Given the description of an element on the screen output the (x, y) to click on. 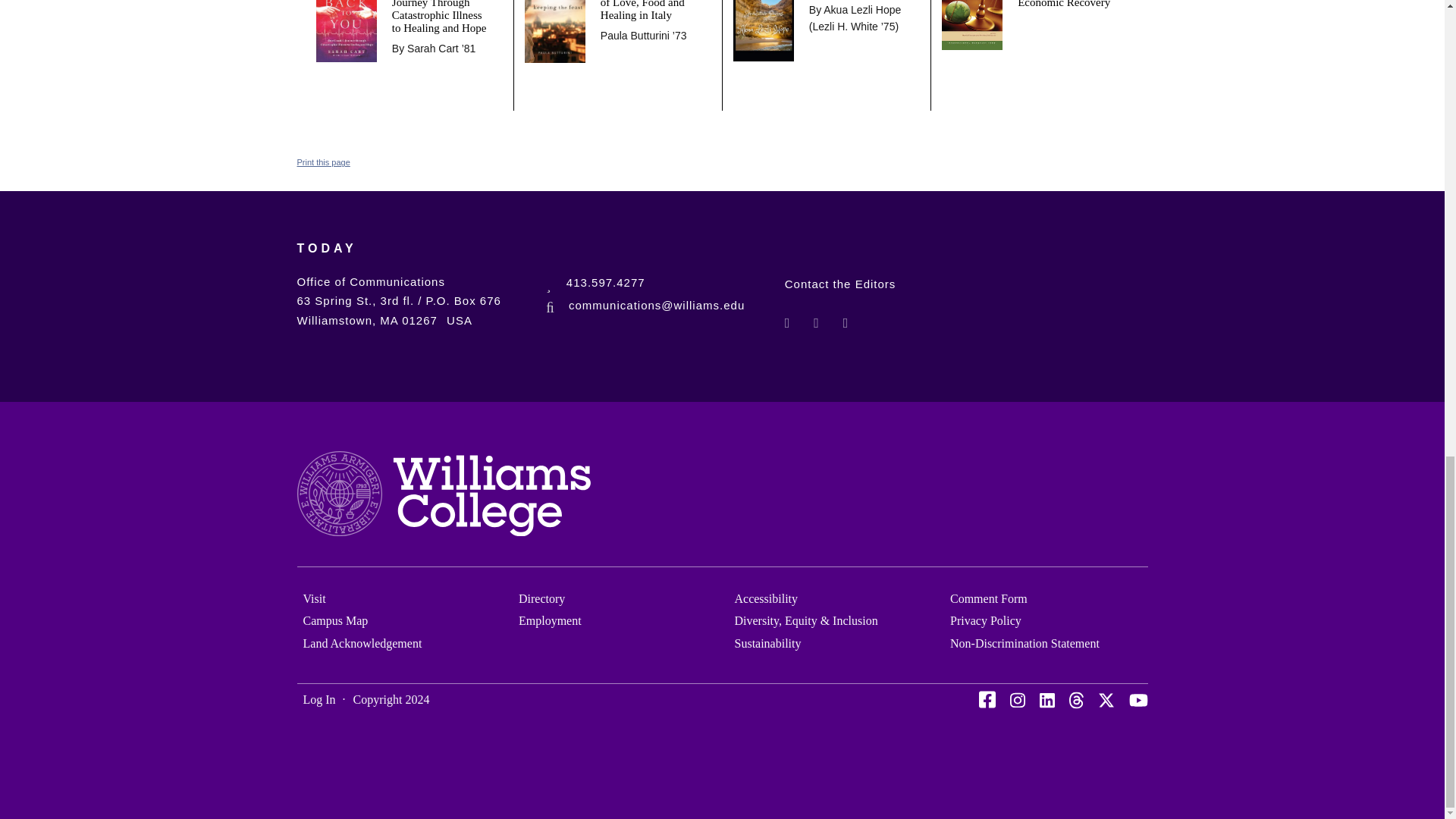
Go to Williams College (444, 496)
Otherwheres: Speculative Poetry (762, 15)
Go to Today (326, 258)
Global Rebalancing: A Roadmap for Economic Recovery (972, 9)
Global Rebalancing: A Roadmap for Economic Recovery (1066, 4)
